Given the description of an element on the screen output the (x, y) to click on. 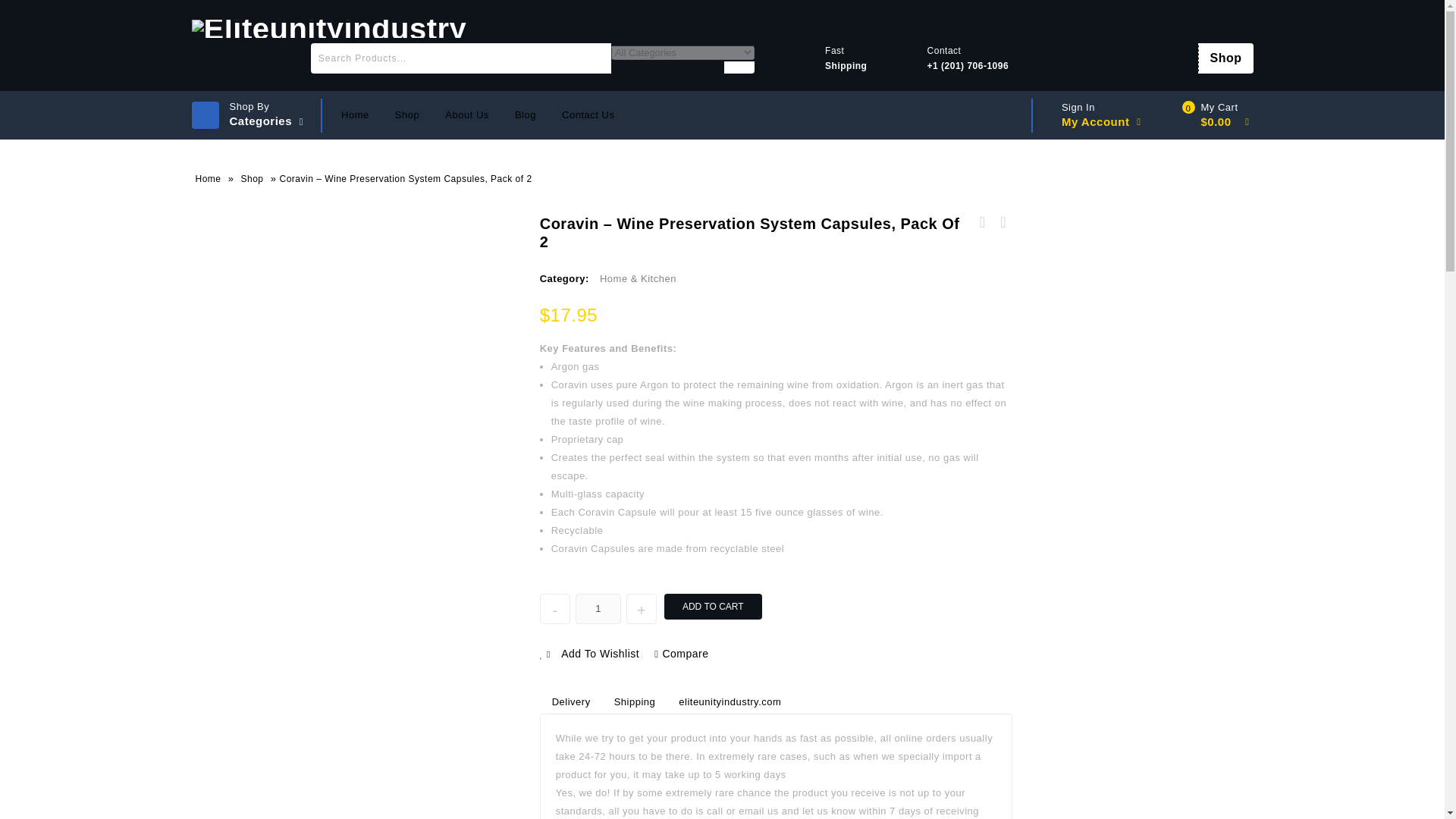
Home (355, 114)
Add To Wishlist (589, 653)
Shop (1225, 57)
Blog (525, 114)
- (555, 608)
The Pioneer Woman Amelia 15.22-Ounce Rose (982, 222)
Eliteunityindustry.com (327, 27)
ADD TO CART (712, 606)
Shop (1225, 57)
Search for: (461, 58)
Search (738, 76)
Delivery (571, 702)
Qty (598, 608)
Shop (250, 178)
Compare (680, 653)
